Given the description of an element on the screen output the (x, y) to click on. 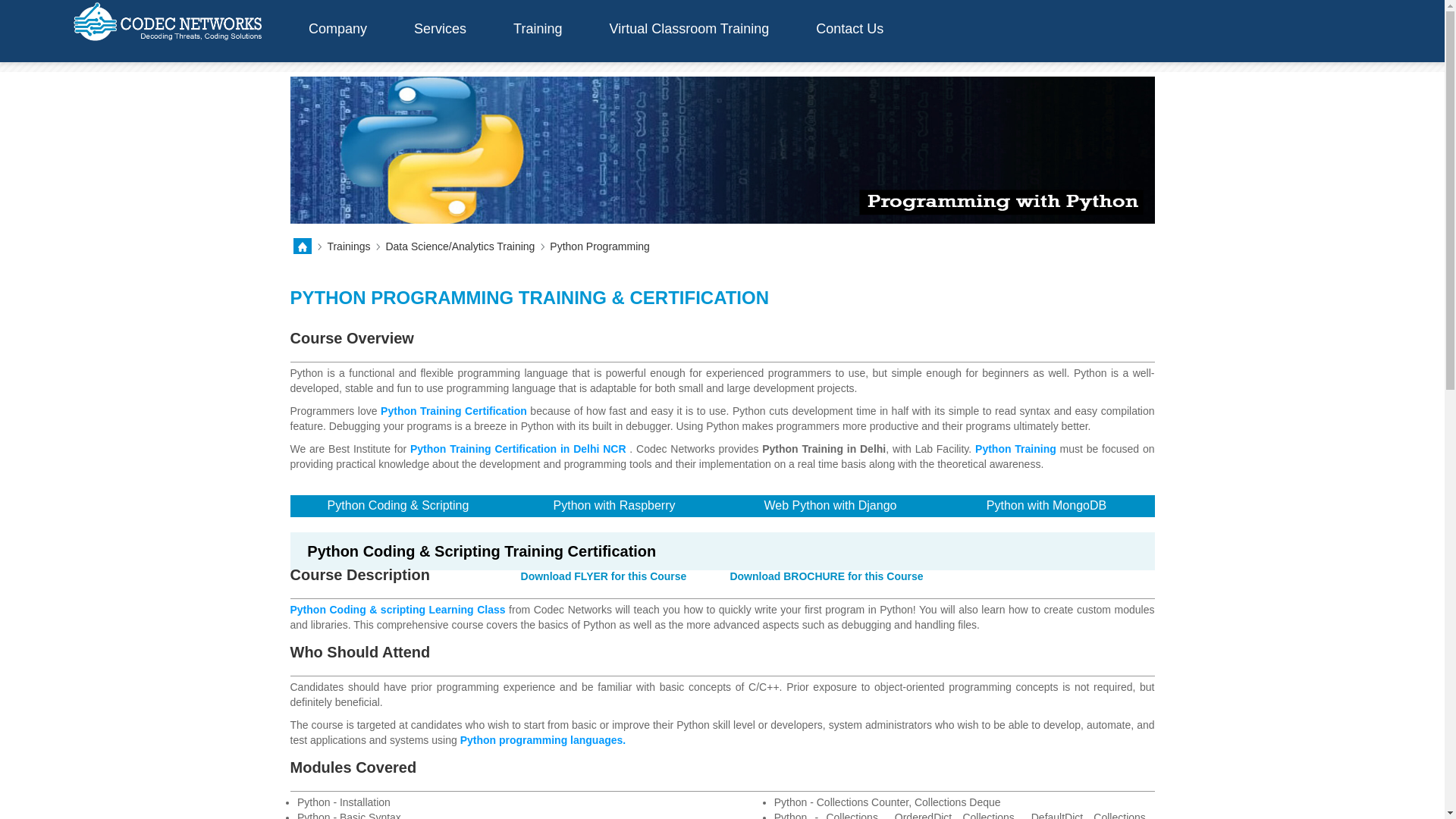
Company (337, 35)
Services (440, 35)
